Given the description of an element on the screen output the (x, y) to click on. 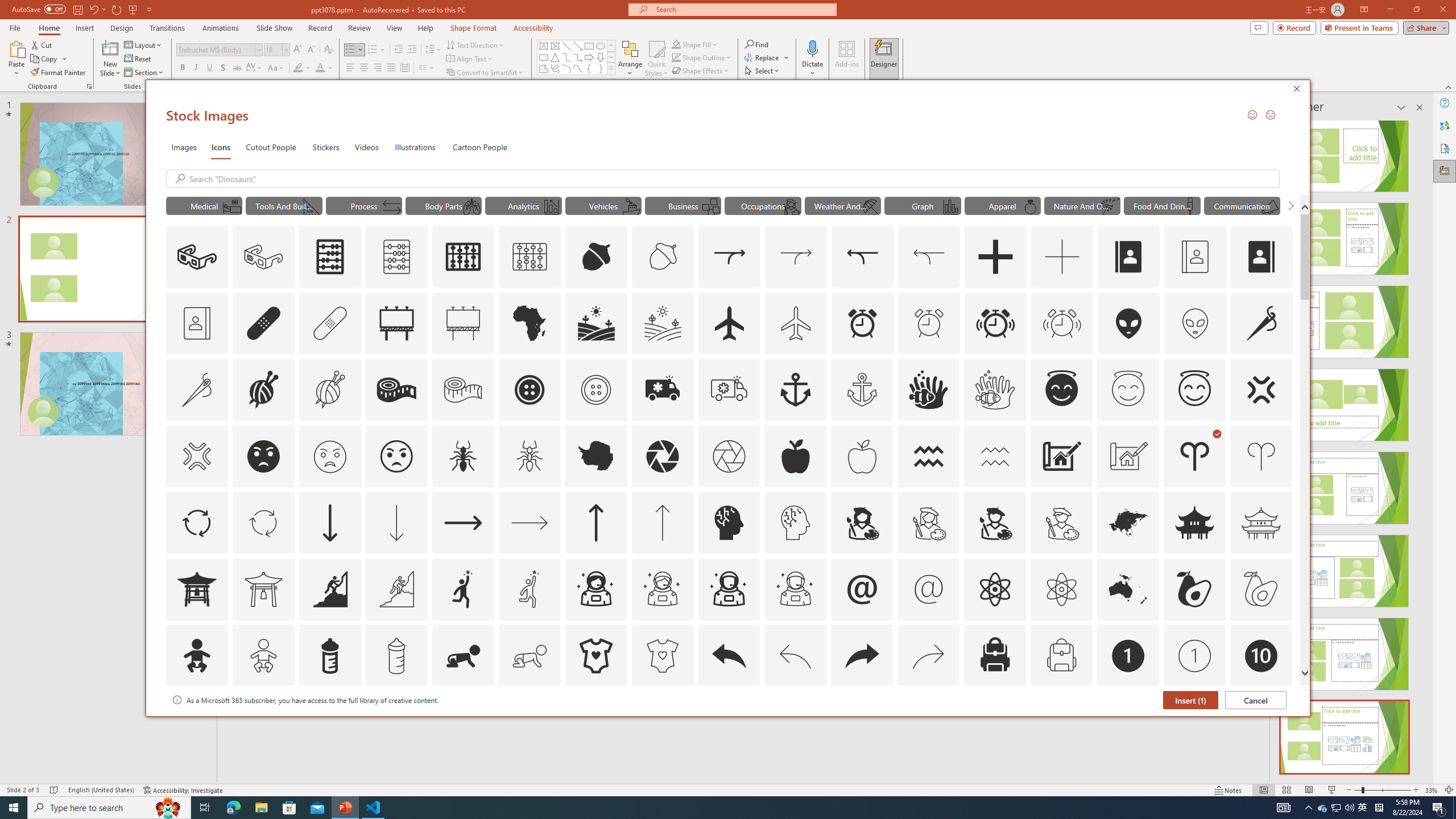
"Tools And Building" Icons. (283, 205)
AutomationID: Icons (1260, 721)
AutomationID: Icons_Ambulance (662, 389)
IME Mode Icon - IME is disabled (1362, 807)
"Vehicles" Icons. (603, 205)
AutomationID: Icons_Airplane (729, 323)
AutomationID: Icons_ArrowCircle (196, 522)
